Given the description of an element on the screen output the (x, y) to click on. 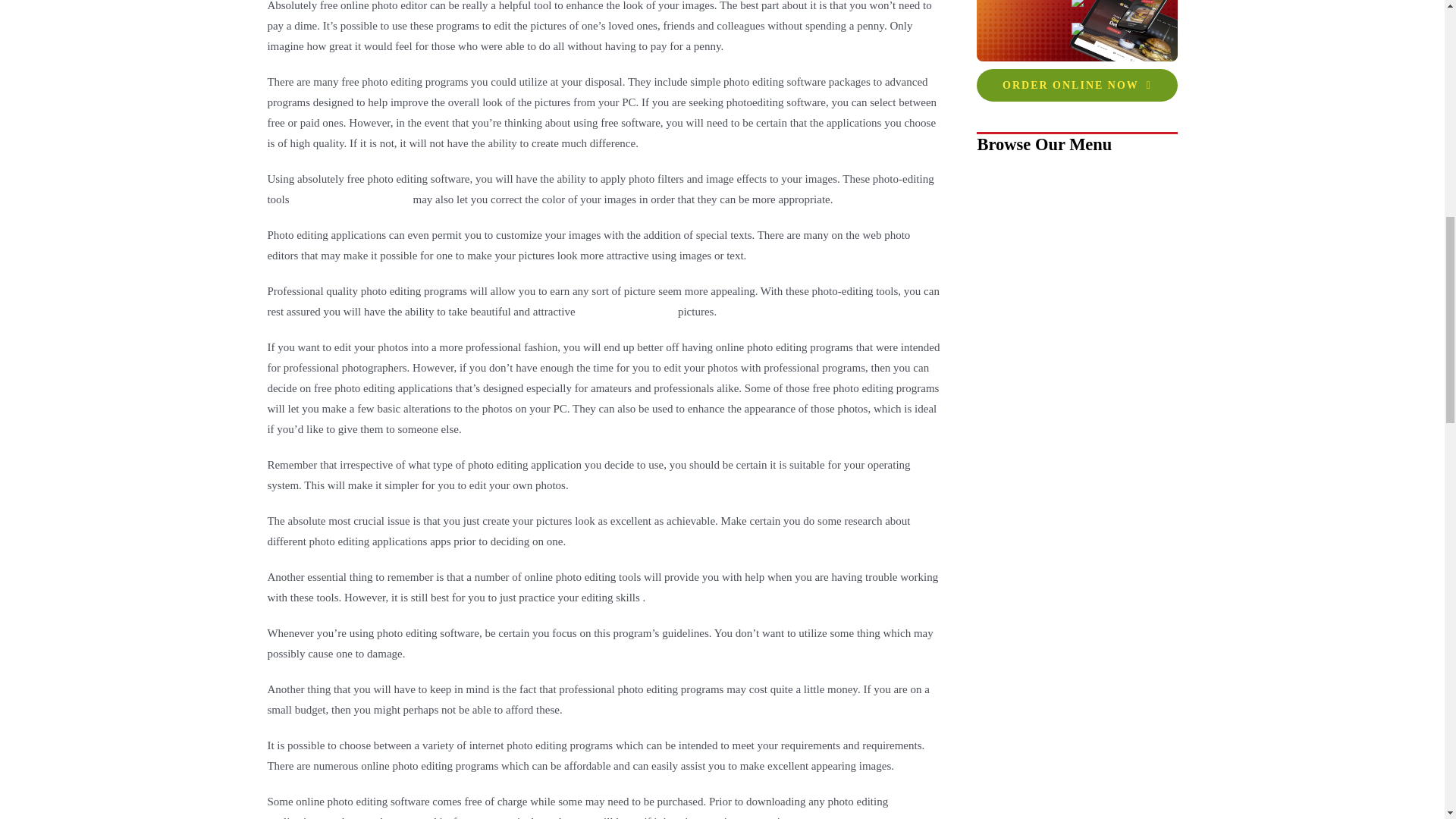
best free photo editor (626, 310)
free online picture editing (350, 198)
ORDER ONLINE NOW (1076, 83)
